Given the description of an element on the screen output the (x, y) to click on. 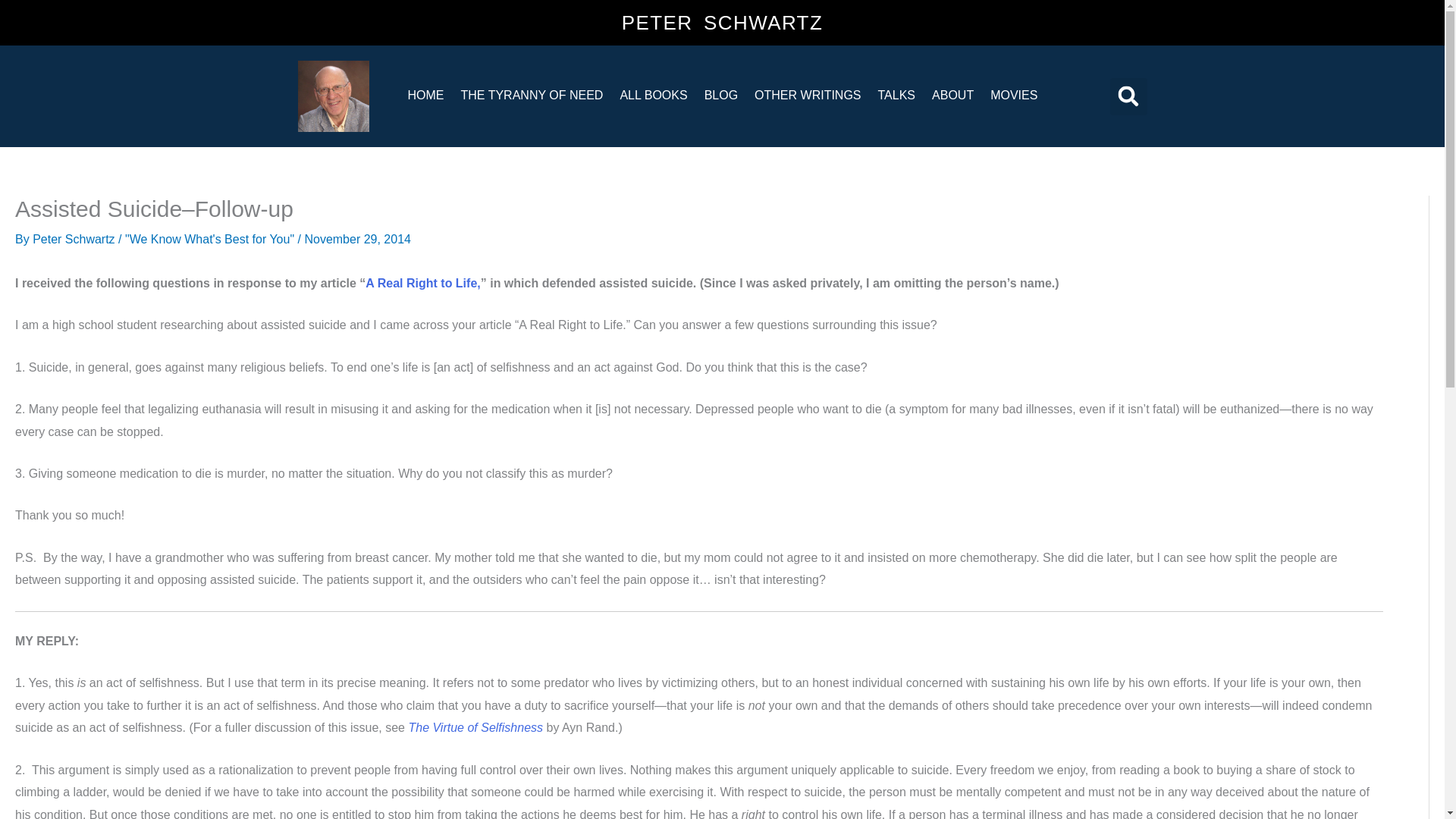
The Virtue of Selfishness (476, 727)
Peter Schwartz (74, 238)
TALKS (896, 94)
A Real Right to Life, (422, 282)
MOVIES (1013, 94)
HOME (424, 94)
THE TYRANNY OF NEED (531, 94)
ABOUT (952, 94)
BLOG (720, 94)
View all posts by Peter Schwartz (74, 238)
ALL BOOKS (653, 94)
"We Know What's Best for You" (209, 238)
OTHER WRITINGS (807, 94)
